Given the description of an element on the screen output the (x, y) to click on. 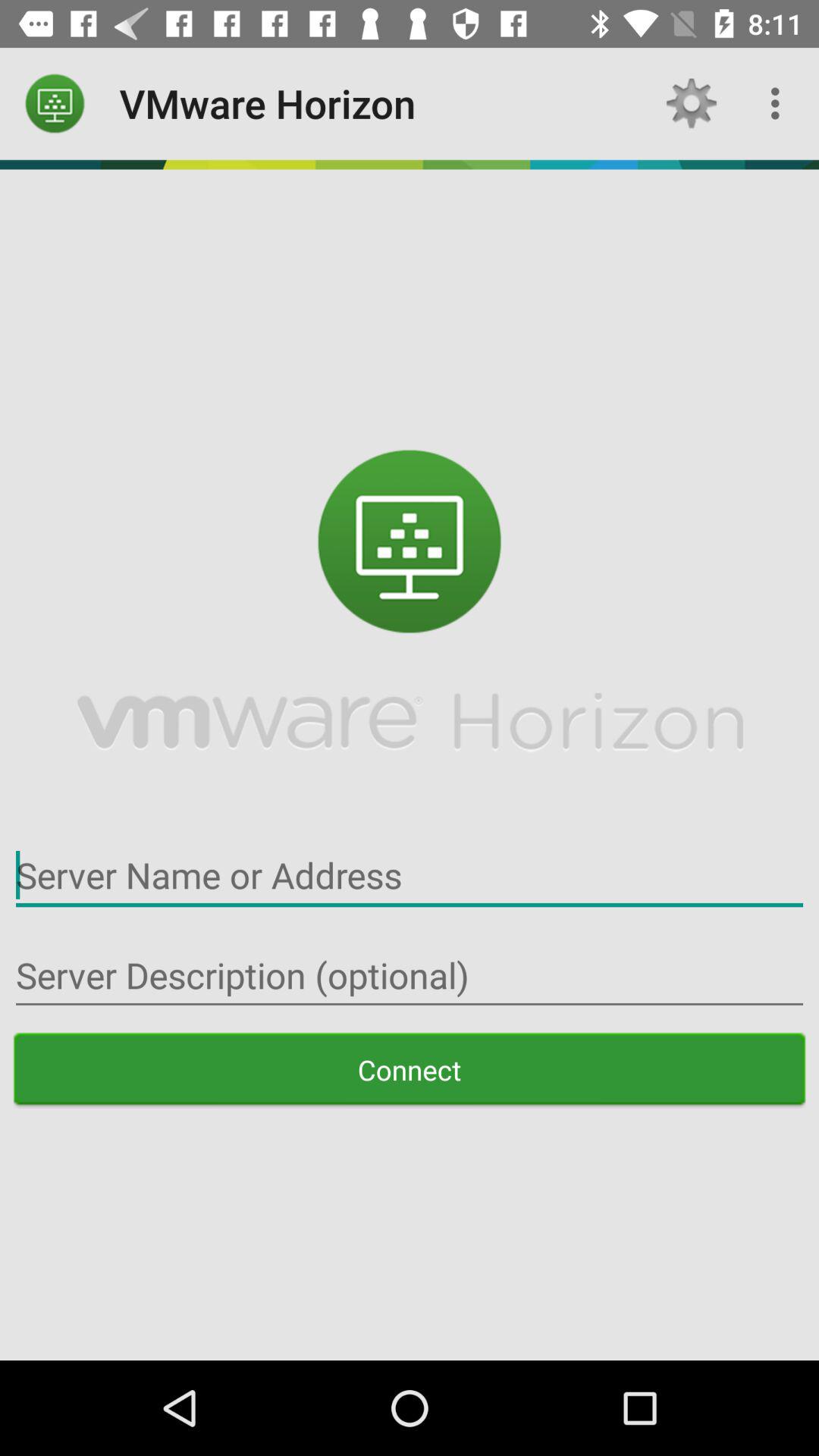
flip until connect item (409, 1069)
